Given the description of an element on the screen output the (x, y) to click on. 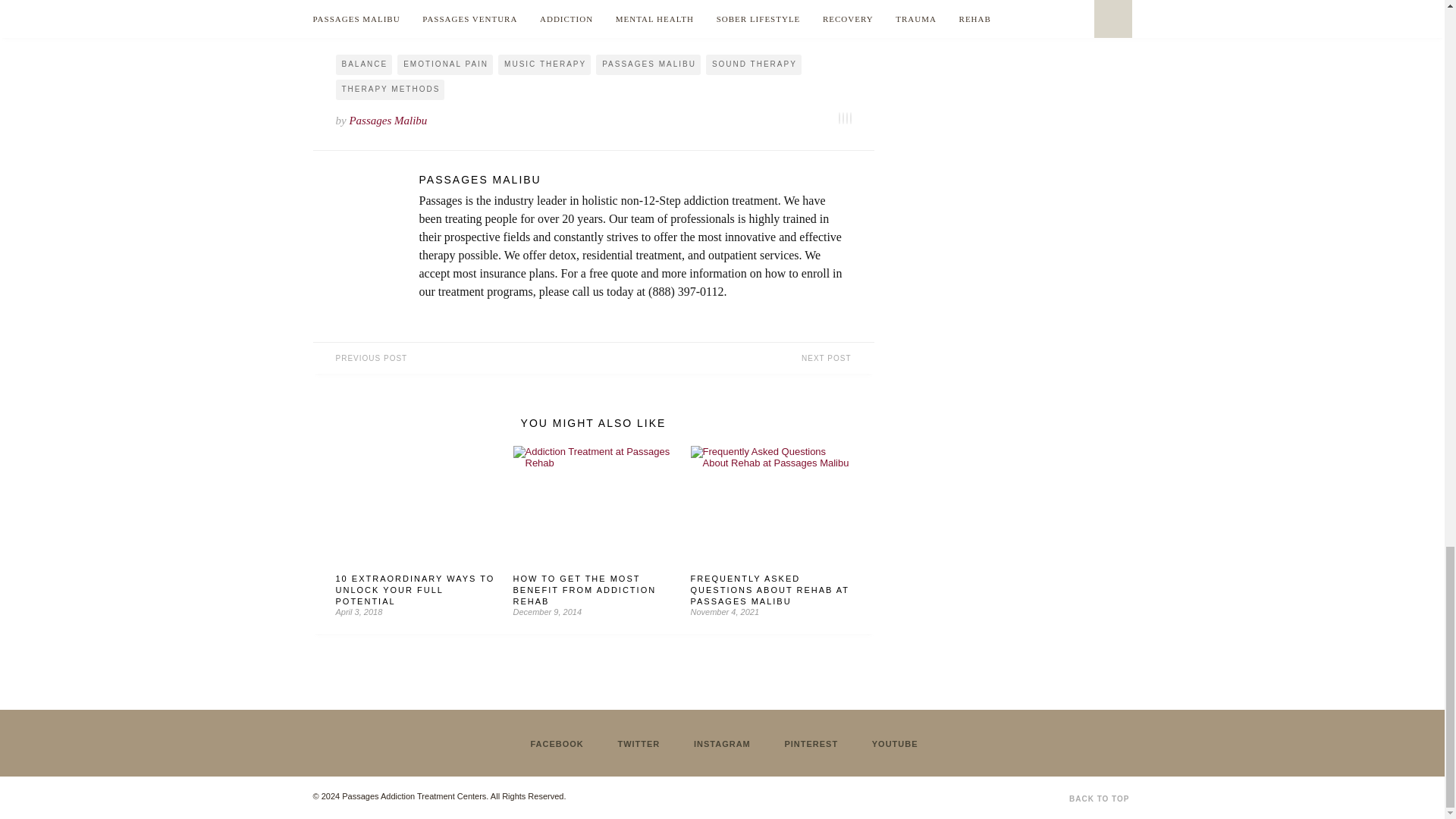
PASSAGES MALIBU (647, 64)
THERAPY METHODS (389, 89)
Facebook (424, 21)
NEXT POST (732, 358)
Posts by Passages Malibu (387, 120)
SOUND THERAPY (754, 64)
PASSAGES MALIBU (634, 179)
PREVIOUS POST (452, 358)
EMOTIONAL PAIN (445, 64)
MUSIC THERAPY (544, 64)
Twitter (471, 21)
Posts by Passages Malibu (634, 179)
BALANCE (362, 64)
Passages Malibu (387, 120)
Pinterest (591, 21)
